Given the description of an element on the screen output the (x, y) to click on. 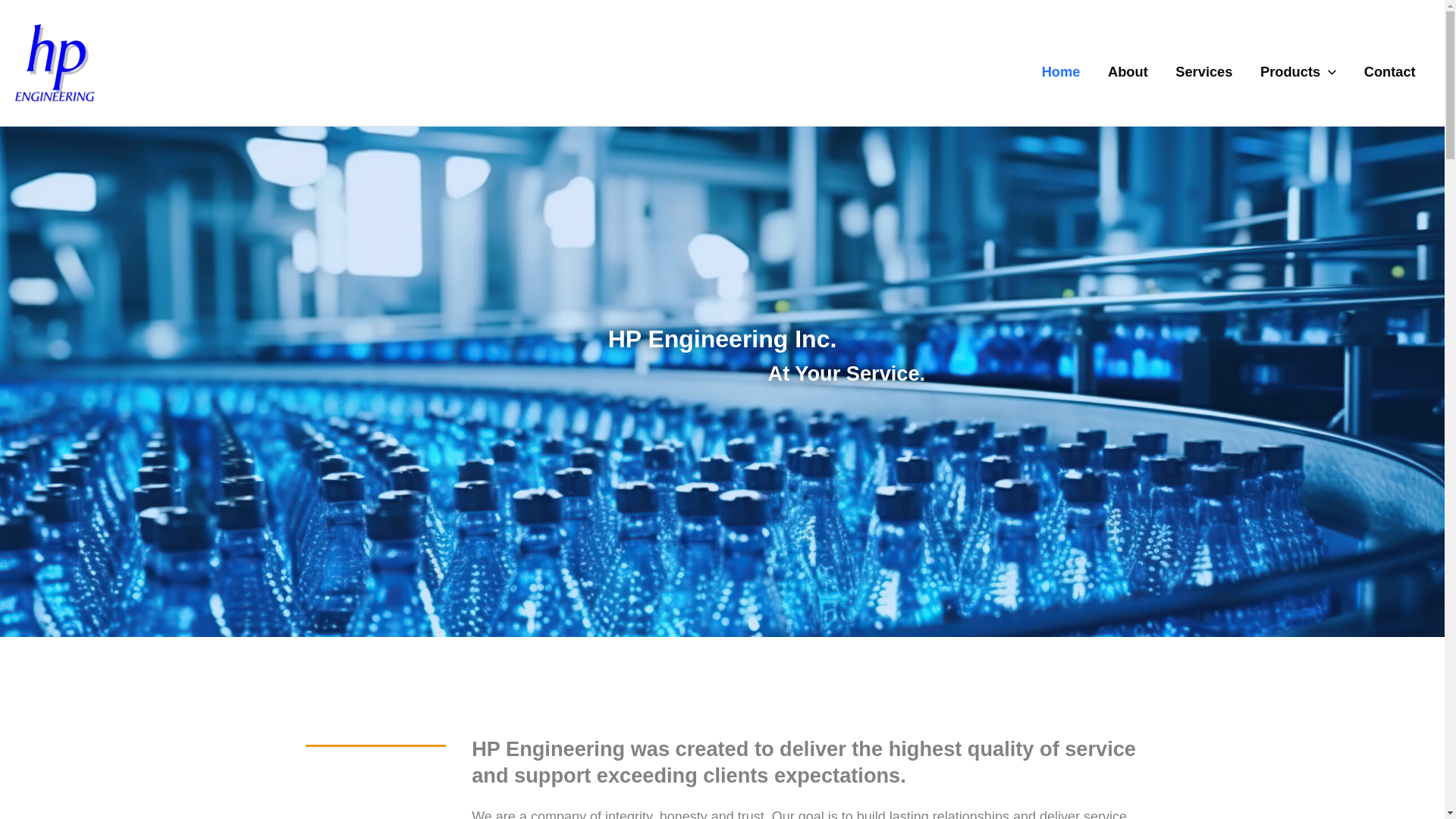
Home (1060, 62)
Products (1298, 62)
Services (1203, 62)
About (1127, 62)
Contact (1389, 62)
